Given the description of an element on the screen output the (x, y) to click on. 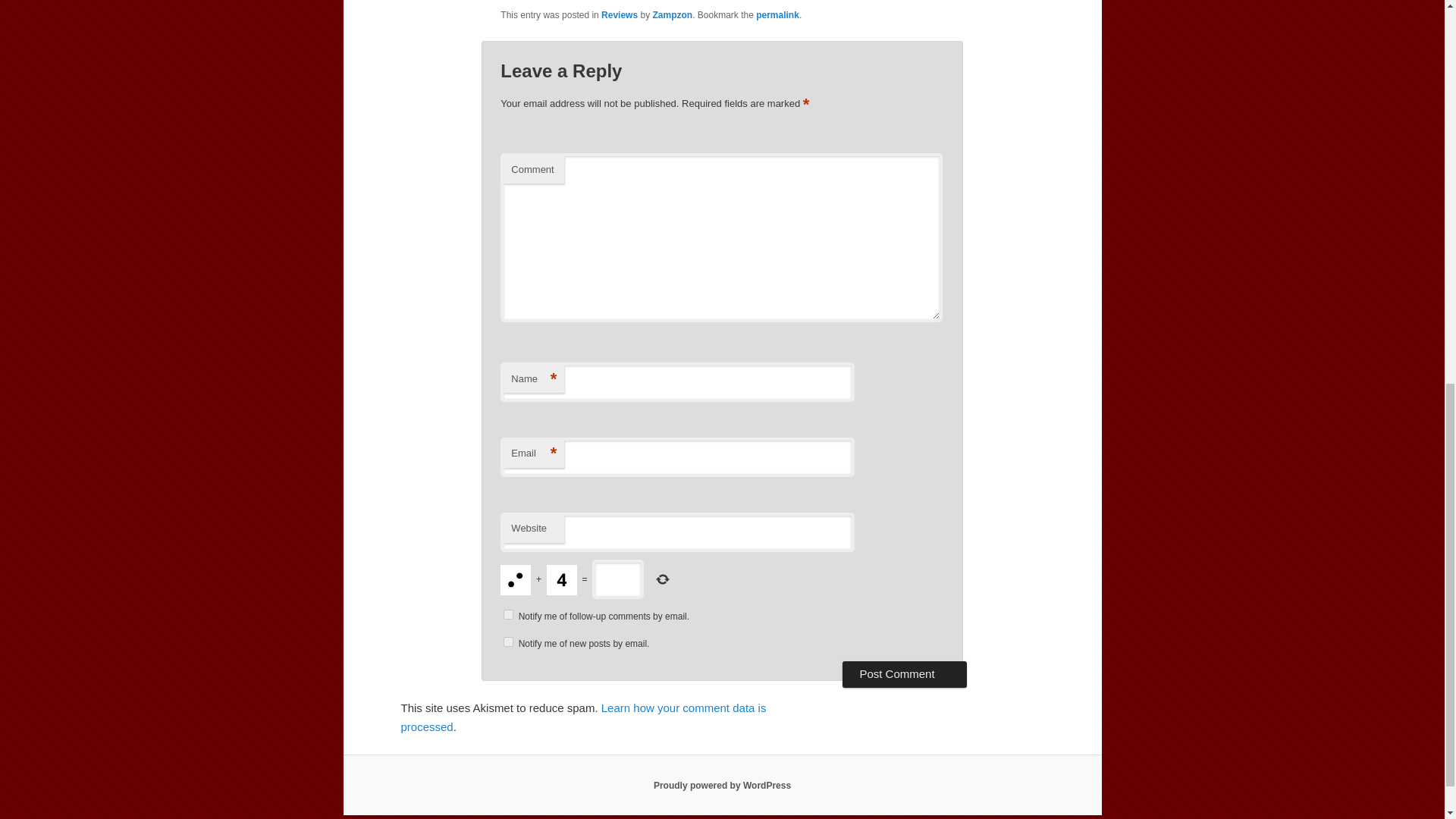
Post Comment (904, 673)
Permalink to Review of Sheldon (777, 14)
Zampzon (672, 14)
subscribe (508, 614)
permalink (777, 14)
Learn how your comment data is processed (582, 716)
subscribe (508, 642)
Proudly powered by WordPress (721, 785)
Semantic Personal Publishing Platform (721, 785)
Reviews (619, 14)
Post Comment (904, 673)
